Given the description of an element on the screen output the (x, y) to click on. 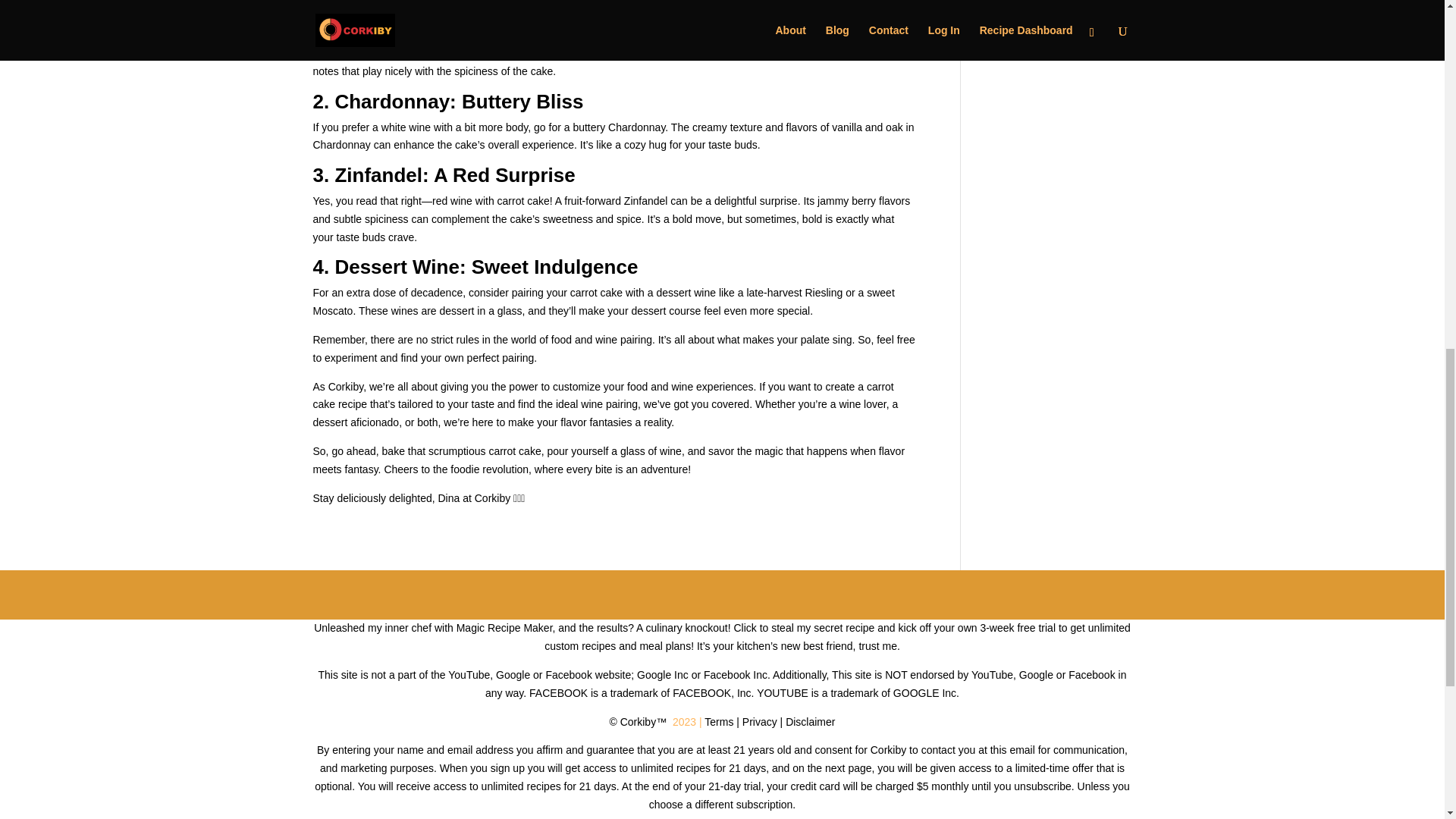
Terms (718, 721)
Disclaimer (810, 721)
Privacy (759, 721)
